Given the description of an element on the screen output the (x, y) to click on. 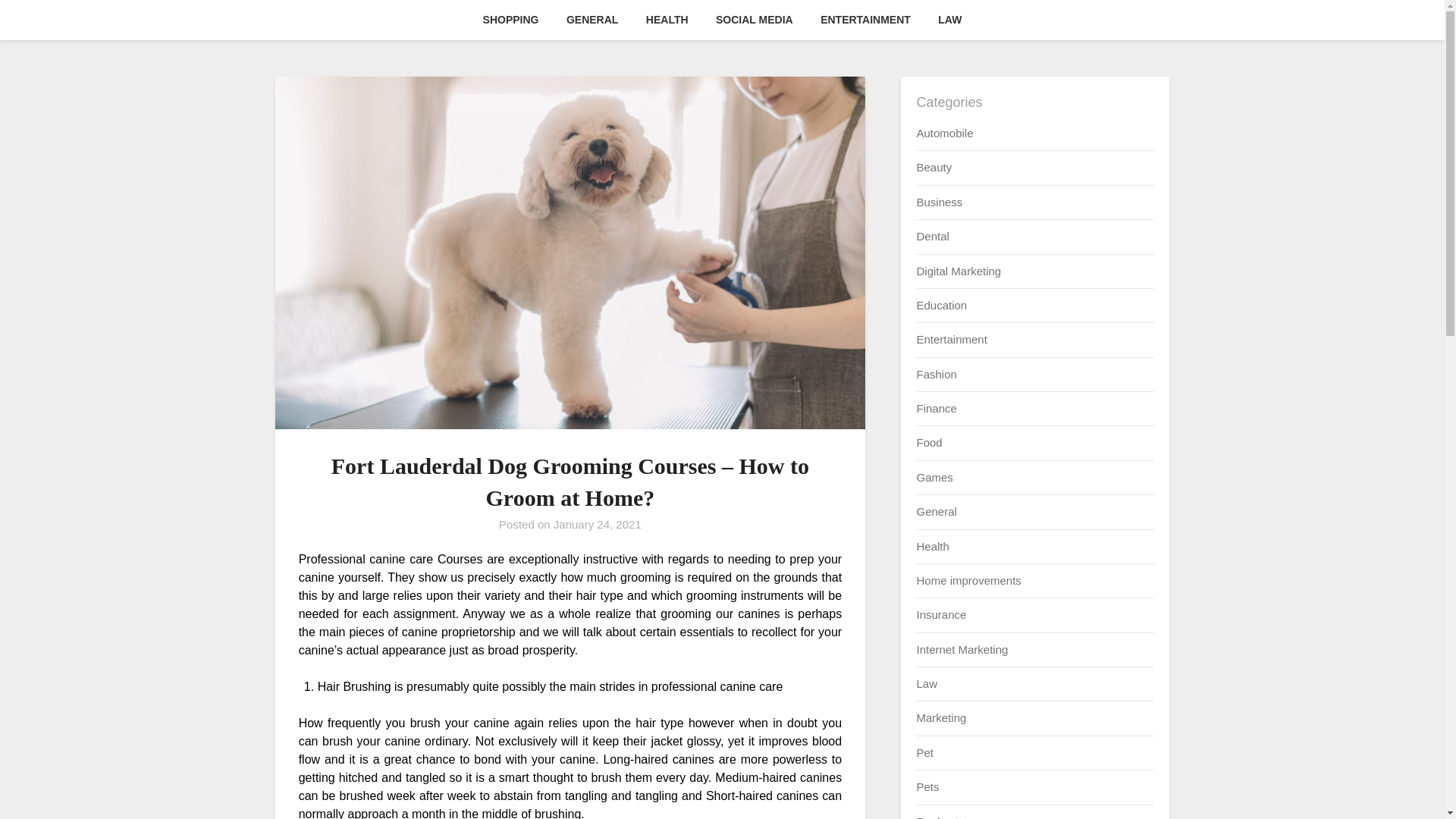
General (935, 511)
Insurance (940, 614)
Dental (932, 236)
Fashion (935, 373)
Education (940, 305)
Entertainment (951, 338)
January 24, 2021 (597, 523)
Law (926, 683)
Automobile (943, 132)
Food (928, 441)
Finance (935, 408)
Digital Marketing (958, 269)
ENTERTAINMENT (865, 20)
Internet Marketing (961, 649)
Pet (924, 752)
